Given the description of an element on the screen output the (x, y) to click on. 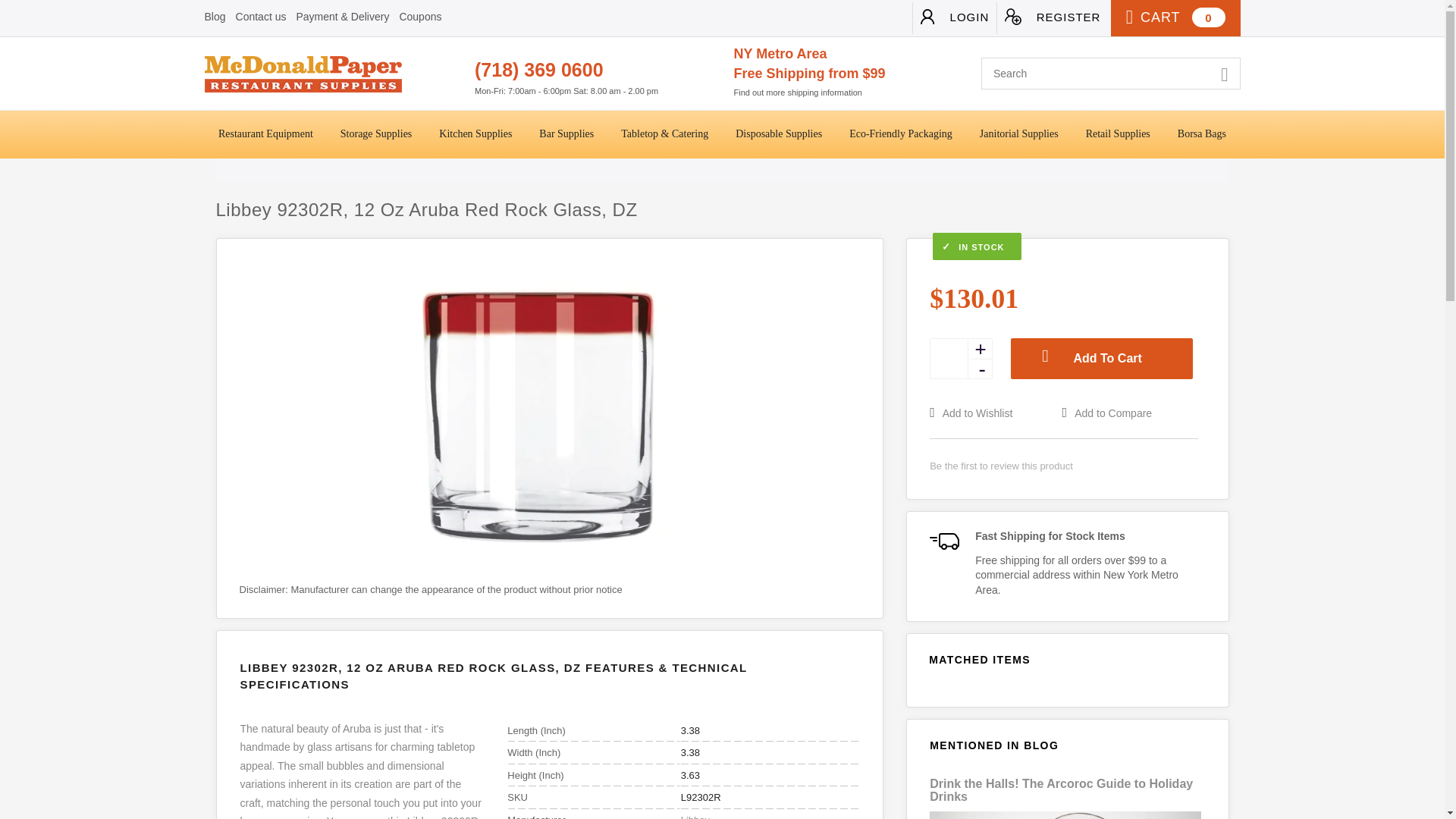
Storage Supplies (376, 134)
Coupons (419, 16)
Add to Wish List (994, 412)
Add To Cart (1101, 358)
LOGIN (953, 18)
Drink the Halls! The Arcoroc Guide to Holiday Drinks (1061, 790)
Qty (949, 358)
Logo (334, 74)
Add to Compare (1126, 412)
REGISTER (1051, 18)
Restaurant Equipment (265, 134)
Blog (215, 16)
Availability (1063, 246)
CART (1175, 18)
Contact us (260, 16)
